Given the description of an element on the screen output the (x, y) to click on. 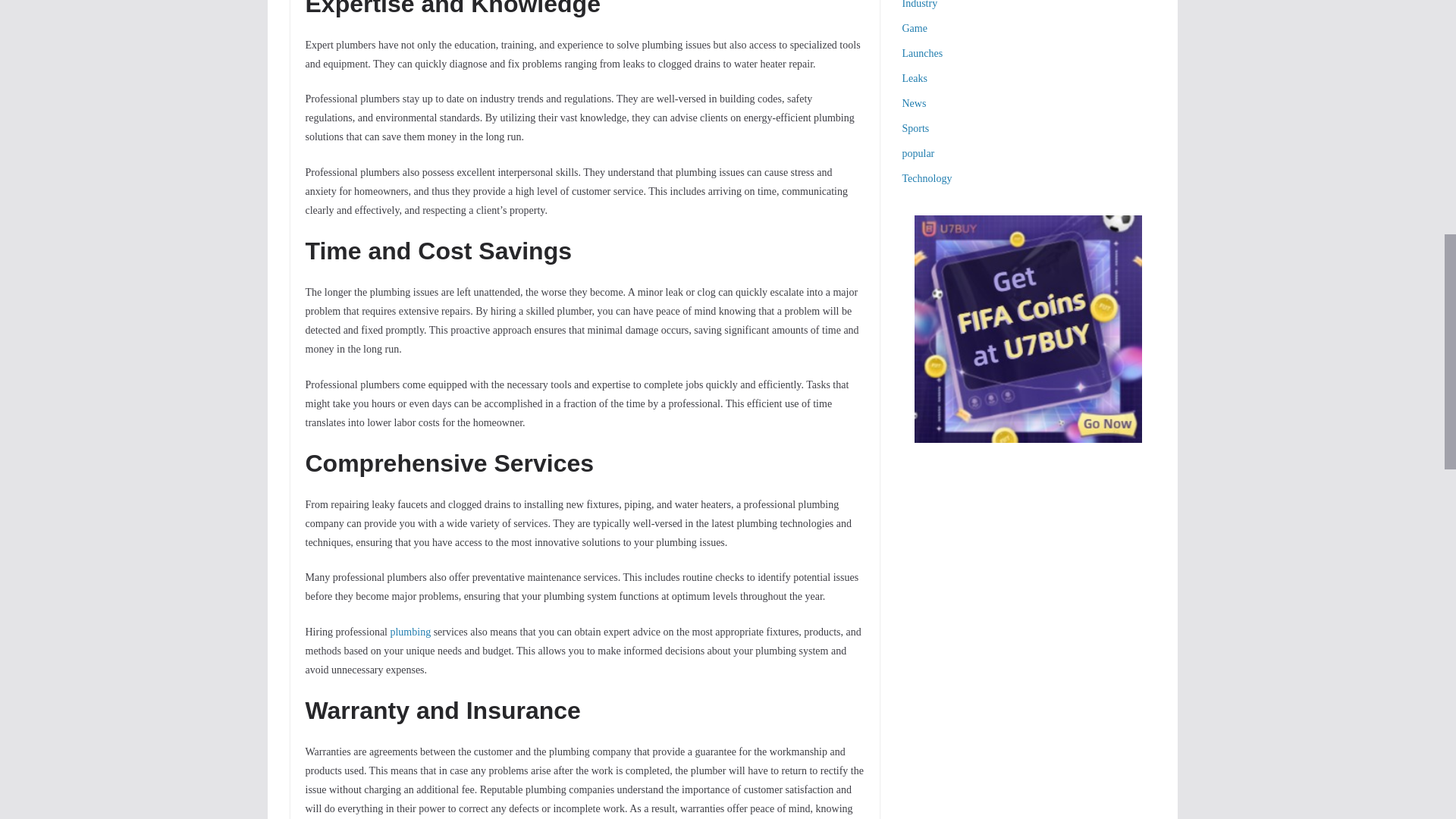
plumbing (410, 632)
